Given the description of an element on the screen output the (x, y) to click on. 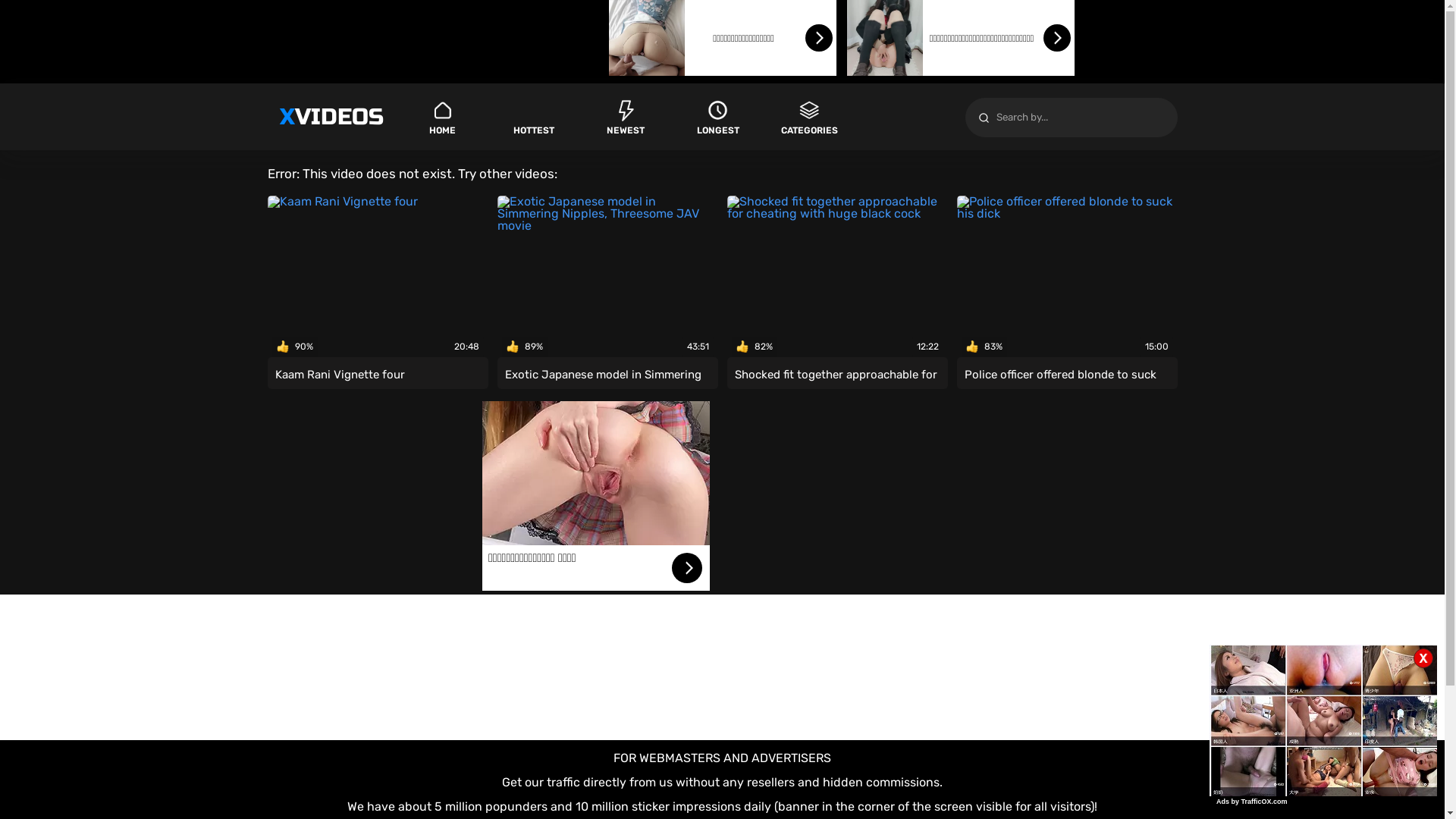
CATEGORIES Element type: text (809, 116)
LONGEST Element type: text (717, 116)
83%
15:00 Element type: text (1067, 277)
NEWEST Element type: text (625, 116)
HOTTEST Element type: text (534, 116)
HOME Element type: text (441, 116)
Kaam Rani Vignette four Element type: text (377, 374)
Ads by TrafficOX.com Element type: text (1251, 801)
89%
43:51 Element type: text (607, 277)
XVIDEOS Element type: text (330, 116)
90%
20:48 Element type: text (376, 277)
Police officer offered blonde to suck his dick Element type: text (1067, 374)
82%
12:22 Element type: text (836, 277)
Search X Videos Element type: hover (1070, 117)
